Given the description of an element on the screen output the (x, y) to click on. 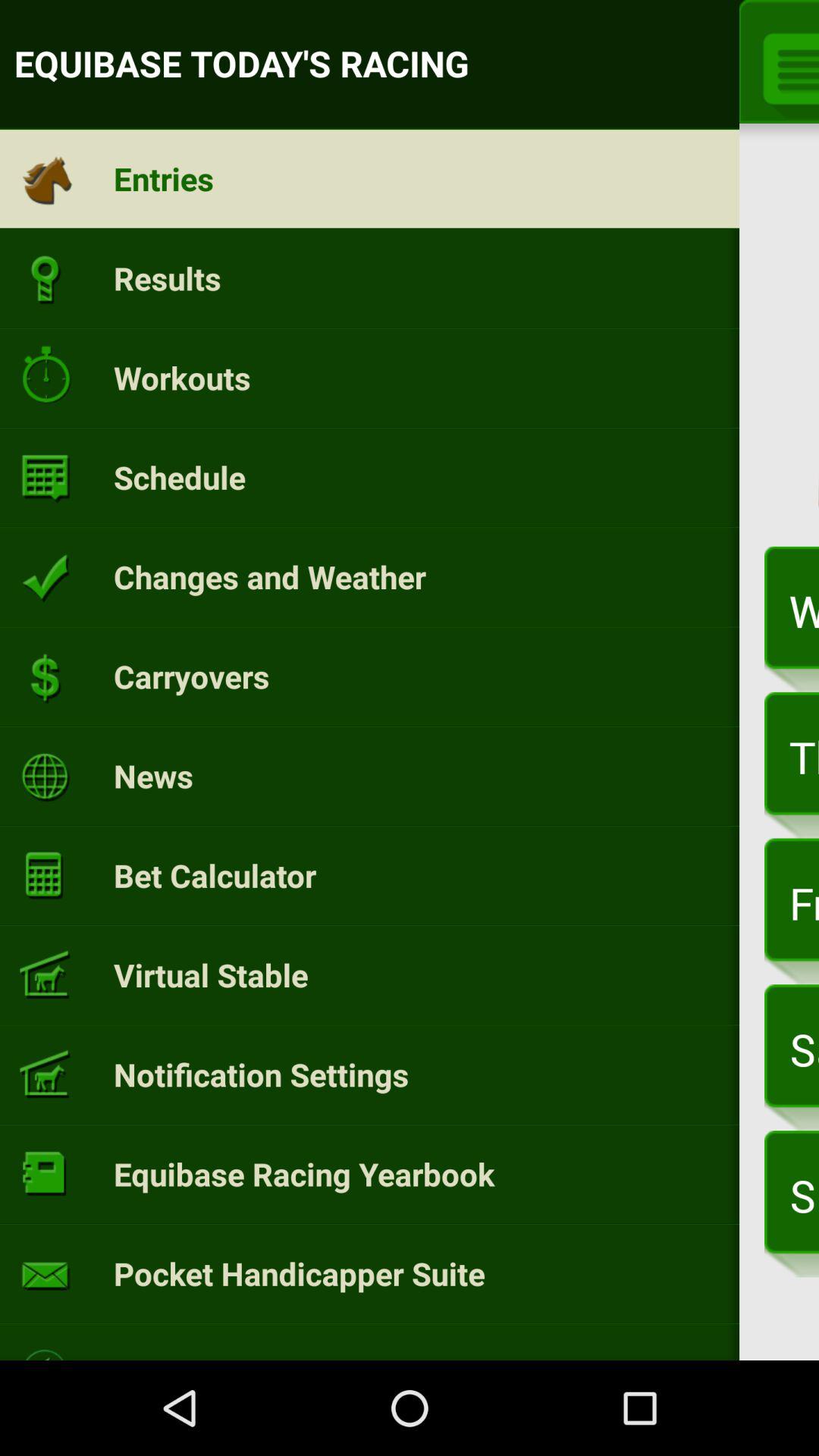
tap the item to the left of the wednesday, mar 29 (269, 576)
